Given the description of an element on the screen output the (x, y) to click on. 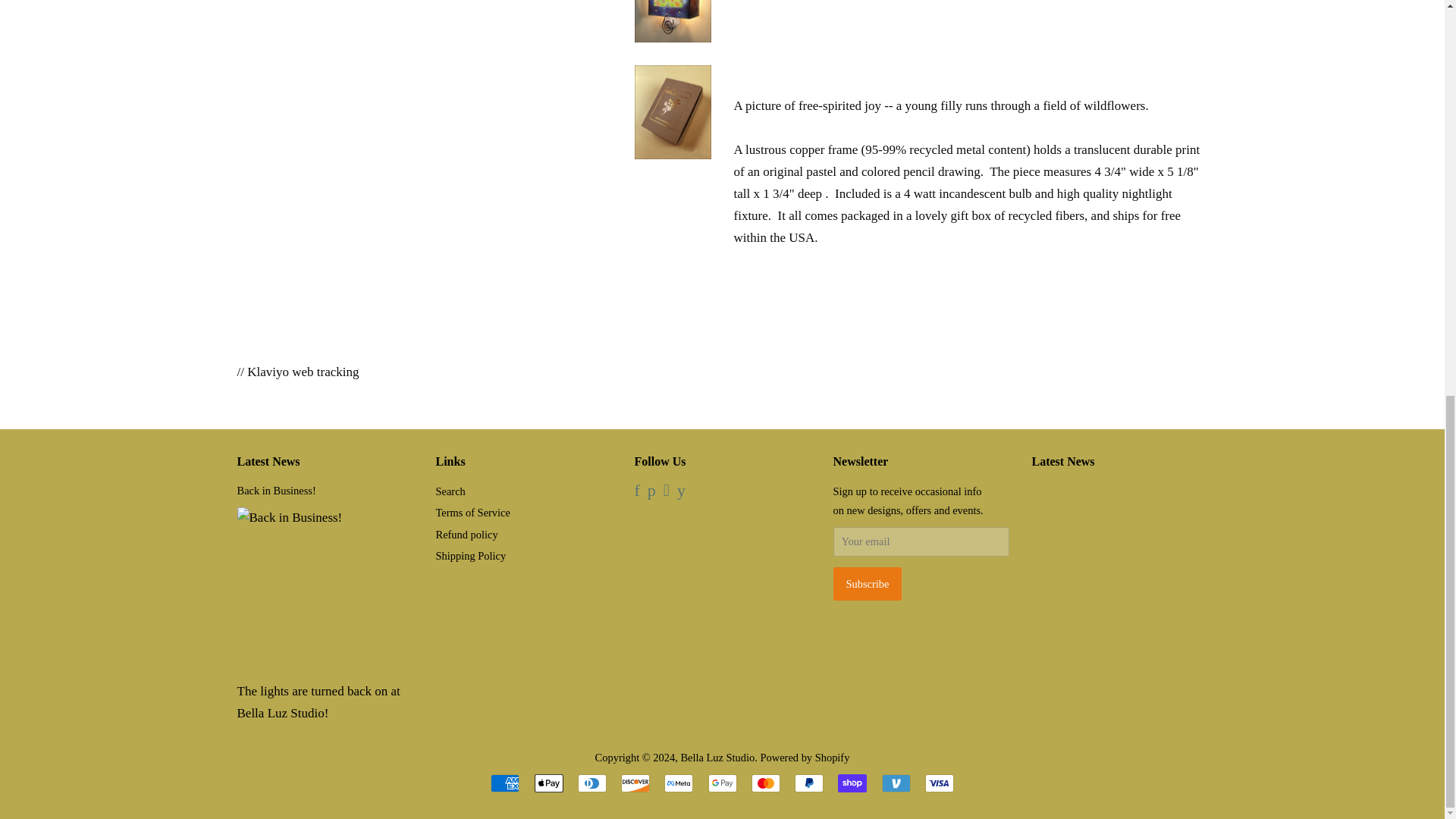
Shop Pay (852, 782)
PayPal (809, 782)
Discover (635, 782)
Venmo (895, 782)
Apple Pay (548, 782)
Google Pay (721, 782)
Visa (938, 782)
Mastercard (765, 782)
American Express (504, 782)
Diners Club (592, 782)
Meta Pay (678, 782)
Subscribe (866, 583)
